Given the description of an element on the screen output the (x, y) to click on. 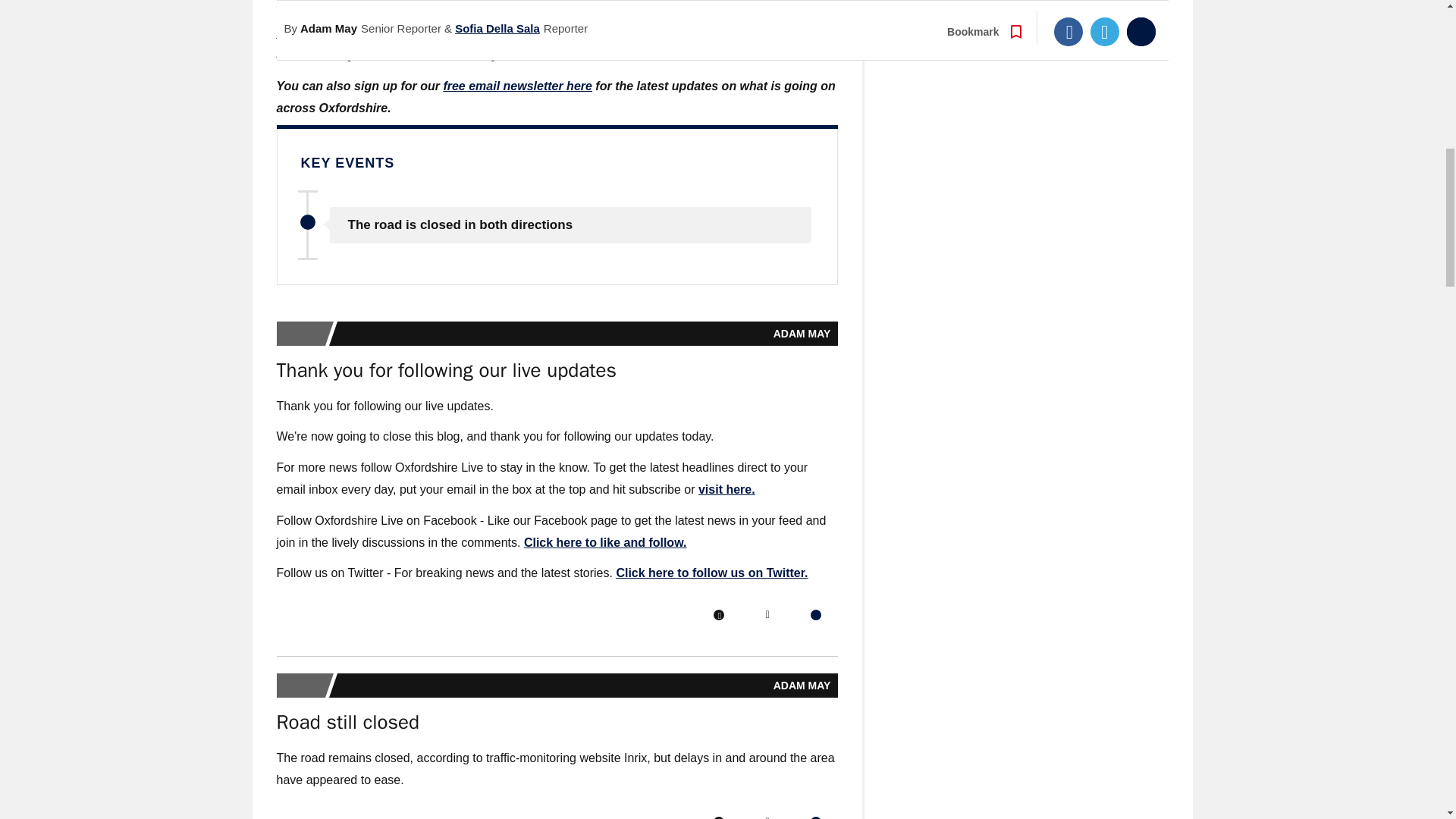
Twitter (767, 614)
Facebook (718, 614)
